Given the description of an element on the screen output the (x, y) to click on. 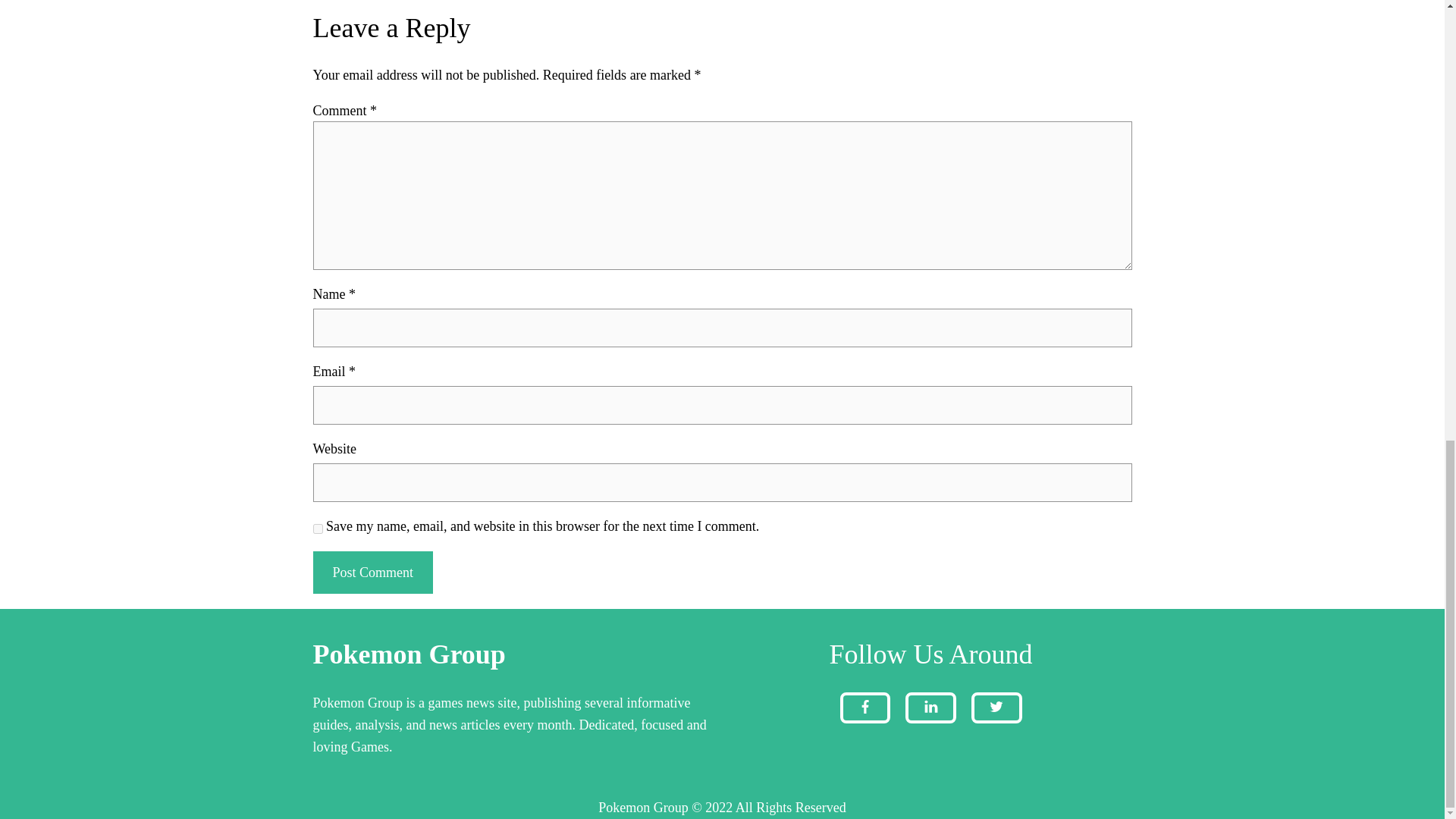
Post Comment (372, 572)
Pokemon Group (409, 654)
Post Comment (372, 572)
